Given the description of an element on the screen output the (x, y) to click on. 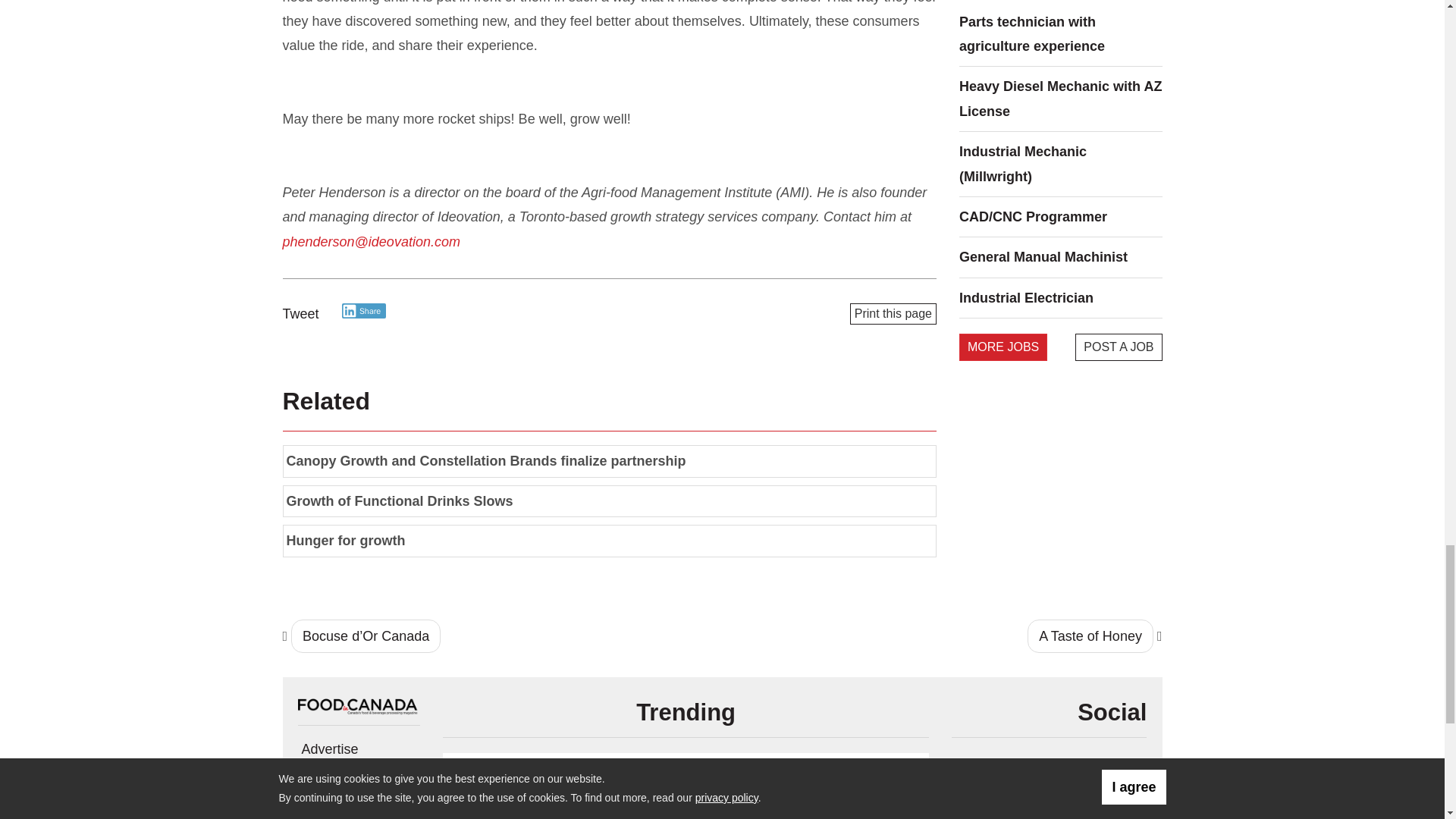
Food In Canada (358, 703)
